Given the description of an element on the screen output the (x, y) to click on. 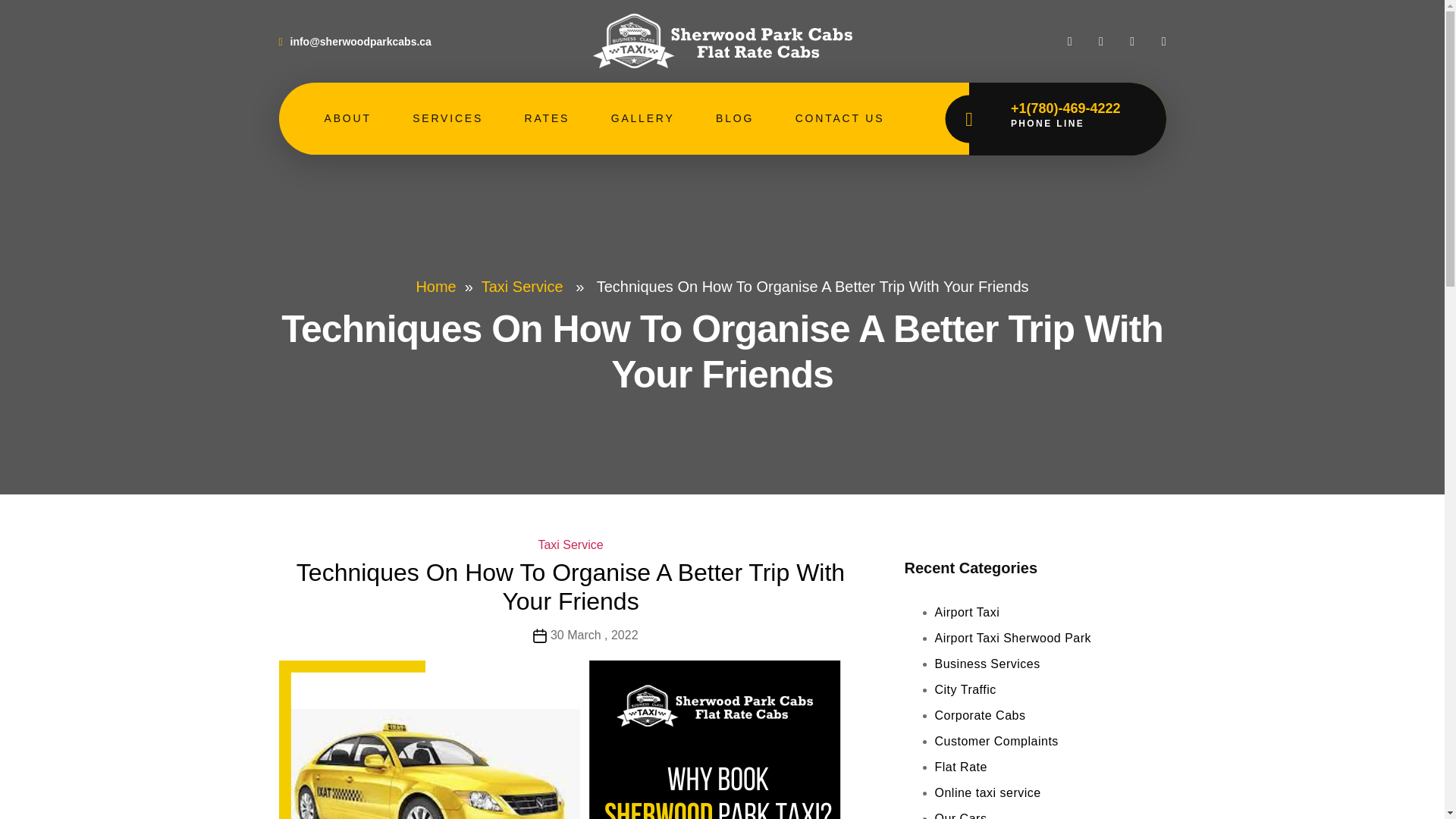
Taxi Service (569, 544)
Corporate Cabs (979, 715)
CONTACT US (839, 118)
Flat Rate (960, 766)
BLOG (735, 118)
Home (434, 286)
City Traffic (964, 689)
Our Cars (960, 815)
GALLERY (643, 118)
Business Services (986, 663)
